Given the description of an element on the screen output the (x, y) to click on. 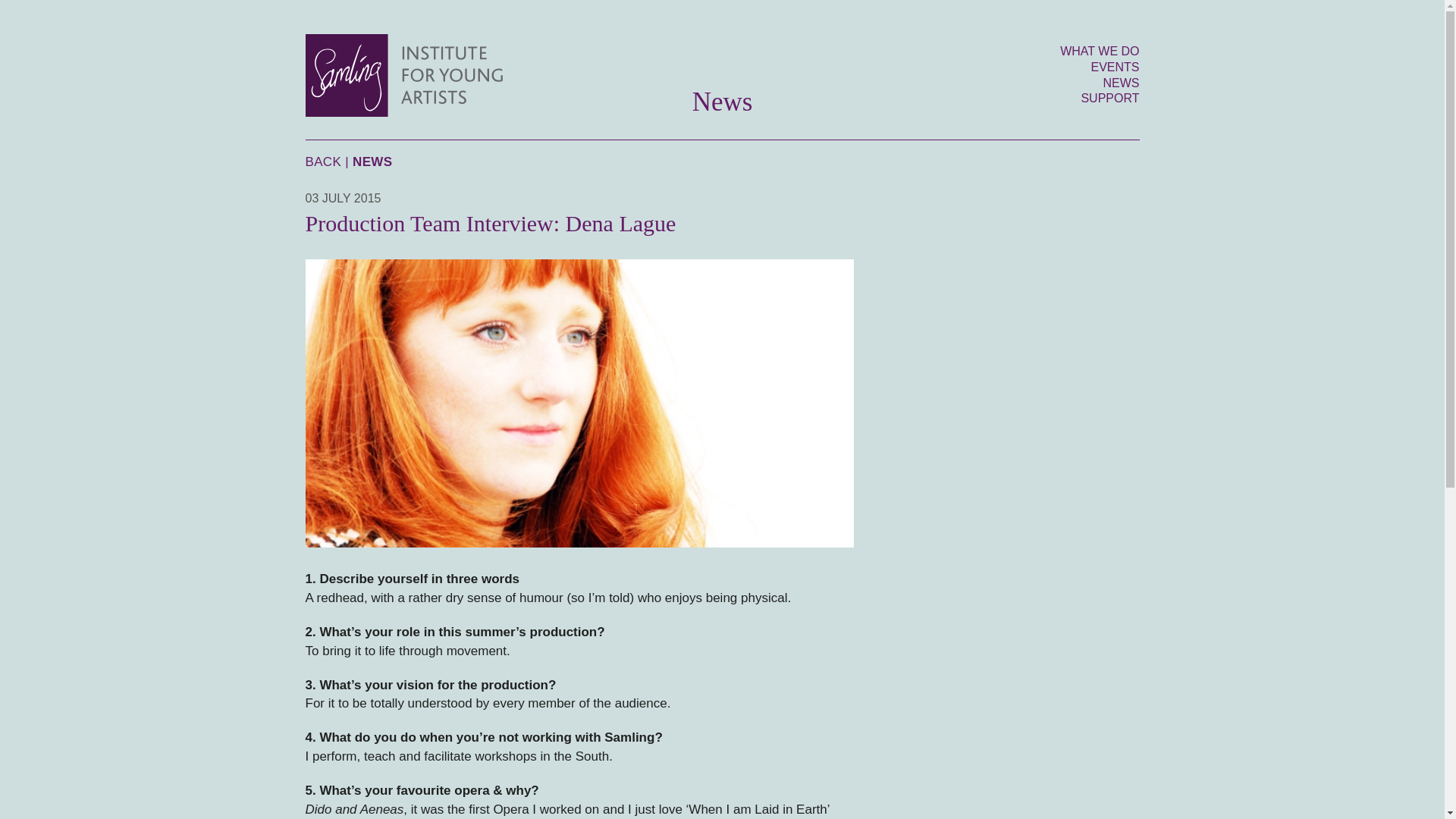
SUPPORT (1109, 97)
EVENTS (1114, 66)
NEWS (1120, 82)
WHAT WE DO (1098, 51)
